Given the description of an element on the screen output the (x, y) to click on. 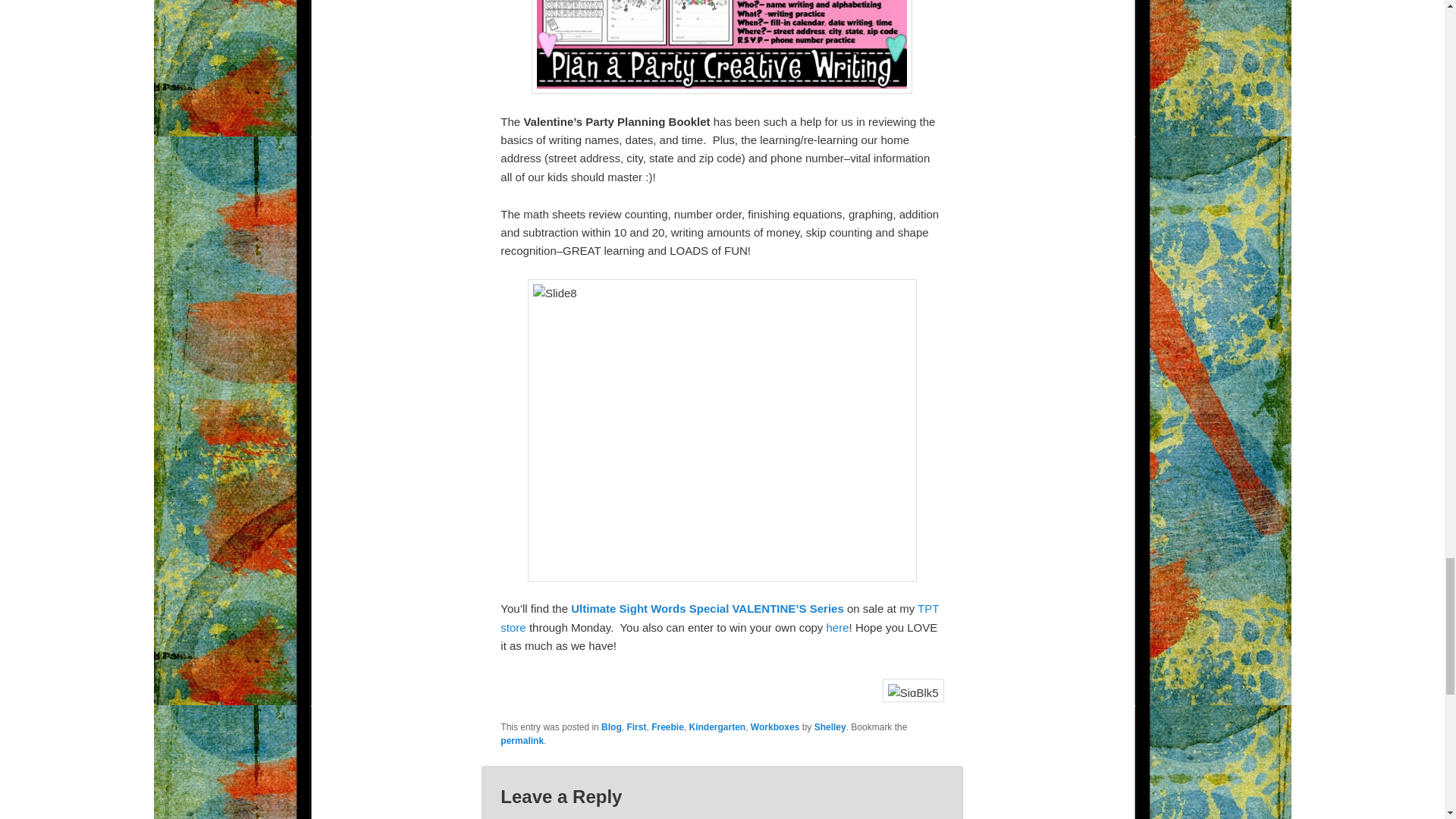
TPT store (719, 617)
